Given the description of an element on the screen output the (x, y) to click on. 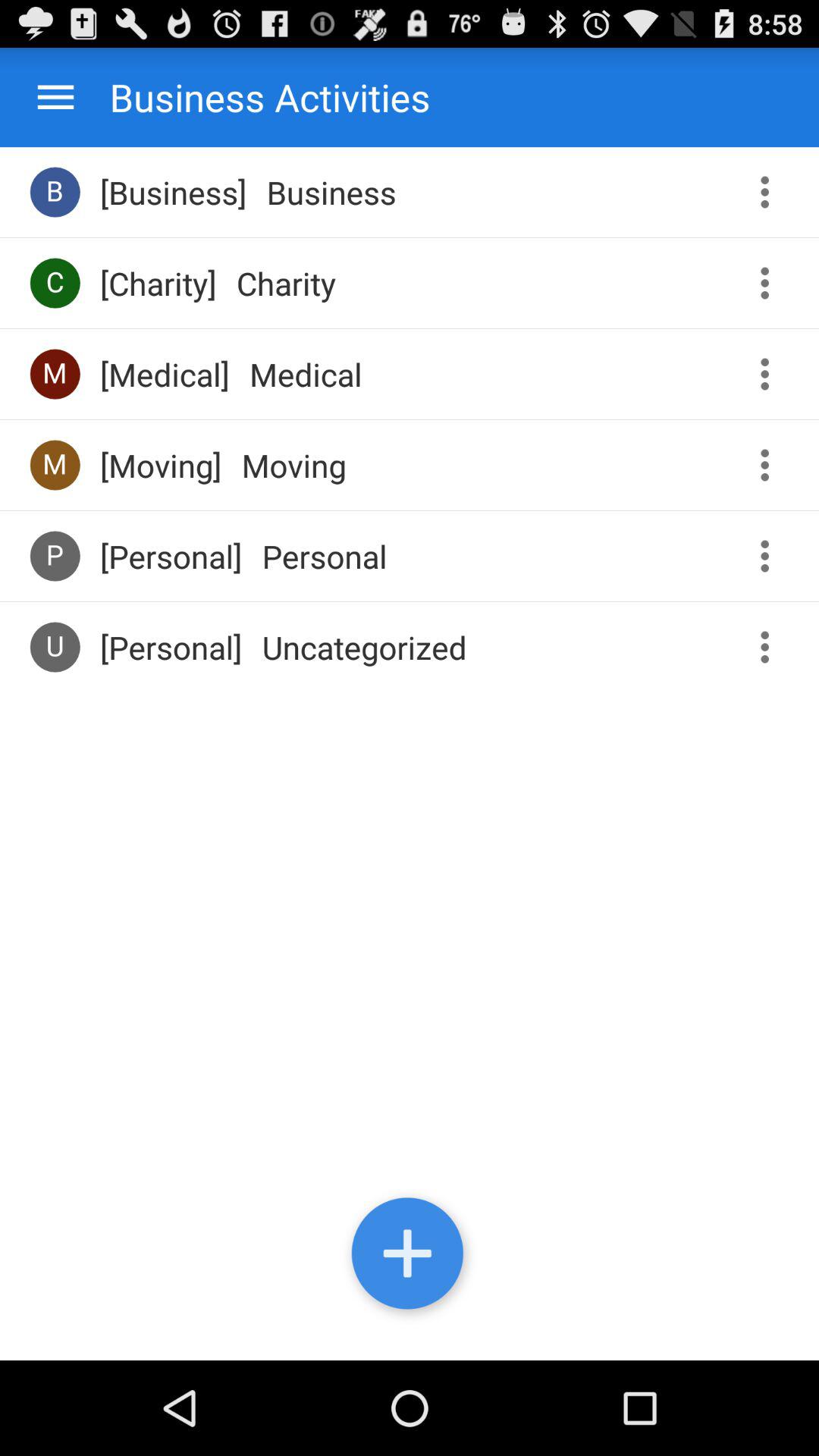
add item (409, 1256)
